Given the description of an element on the screen output the (x, y) to click on. 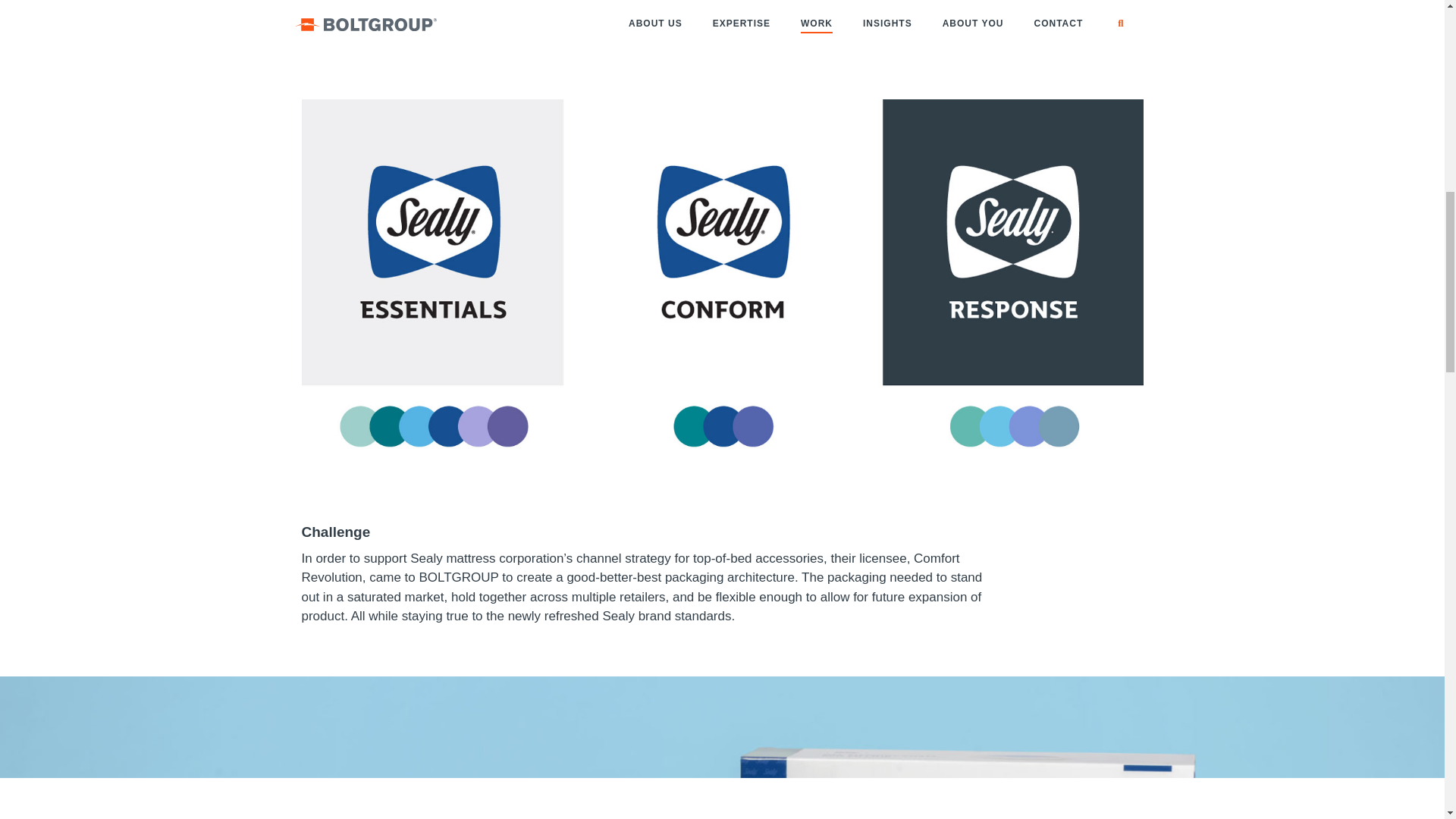
GDUSA American Package Design Award (491, 30)
